Given the description of an element on the screen output the (x, y) to click on. 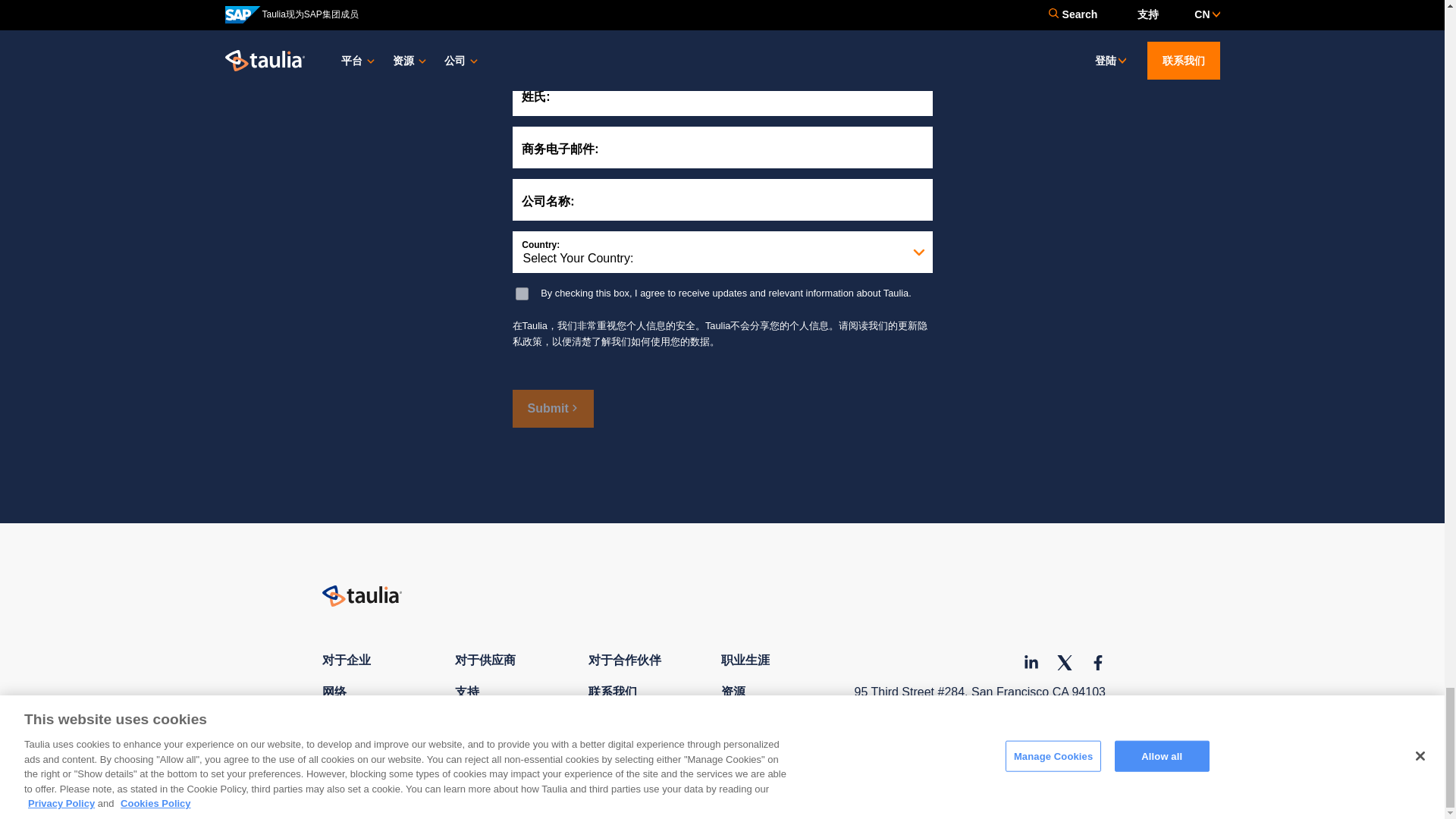
yes (521, 293)
